Given the description of an element on the screen output the (x, y) to click on. 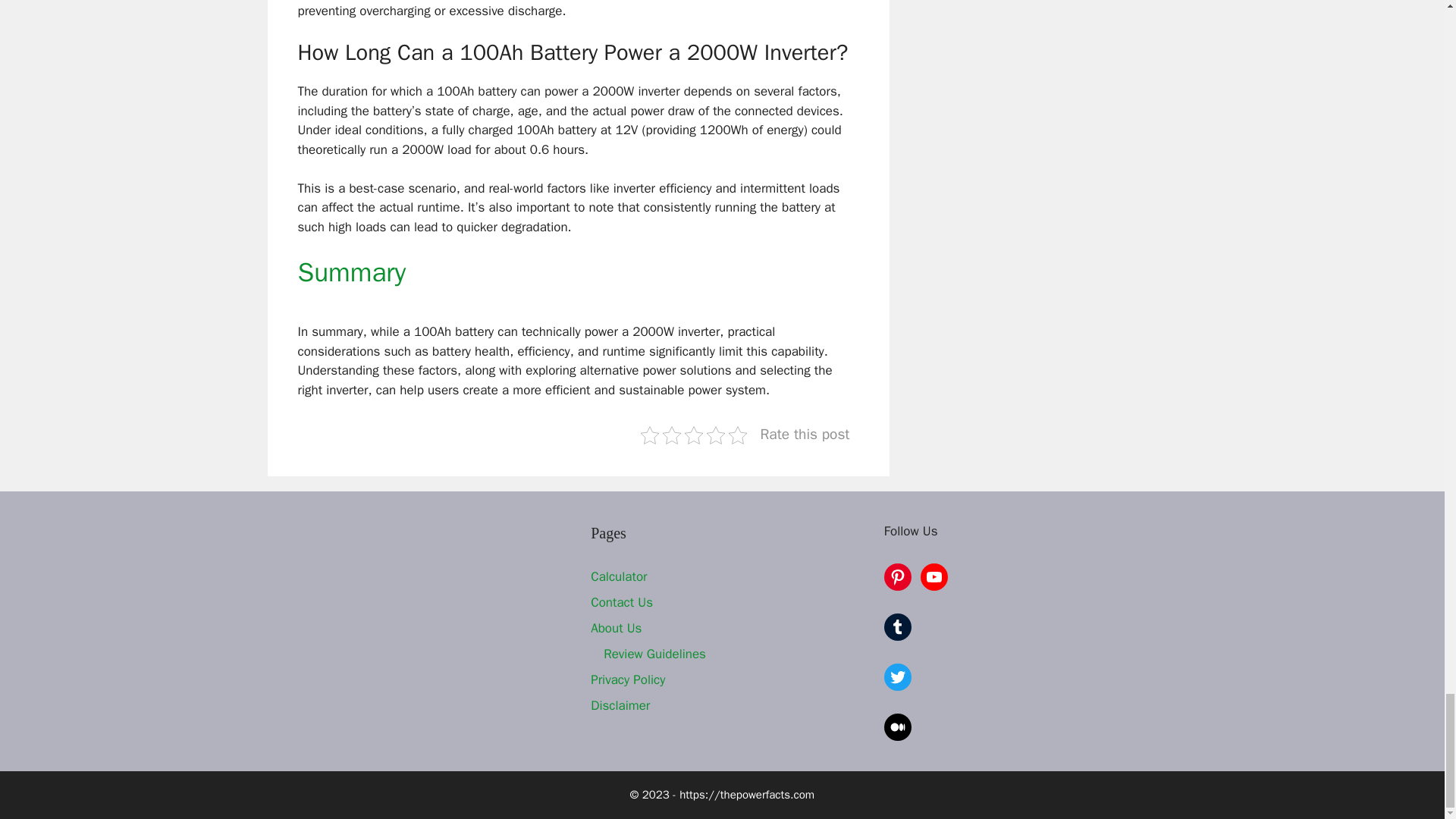
Disclaimer (620, 705)
Contact Us (621, 602)
Privacy Policy (628, 679)
About Us (616, 627)
Review Guidelines (655, 653)
YouTube (933, 576)
Calculator (618, 576)
Pinterest (897, 576)
